Given the description of an element on the screen output the (x, y) to click on. 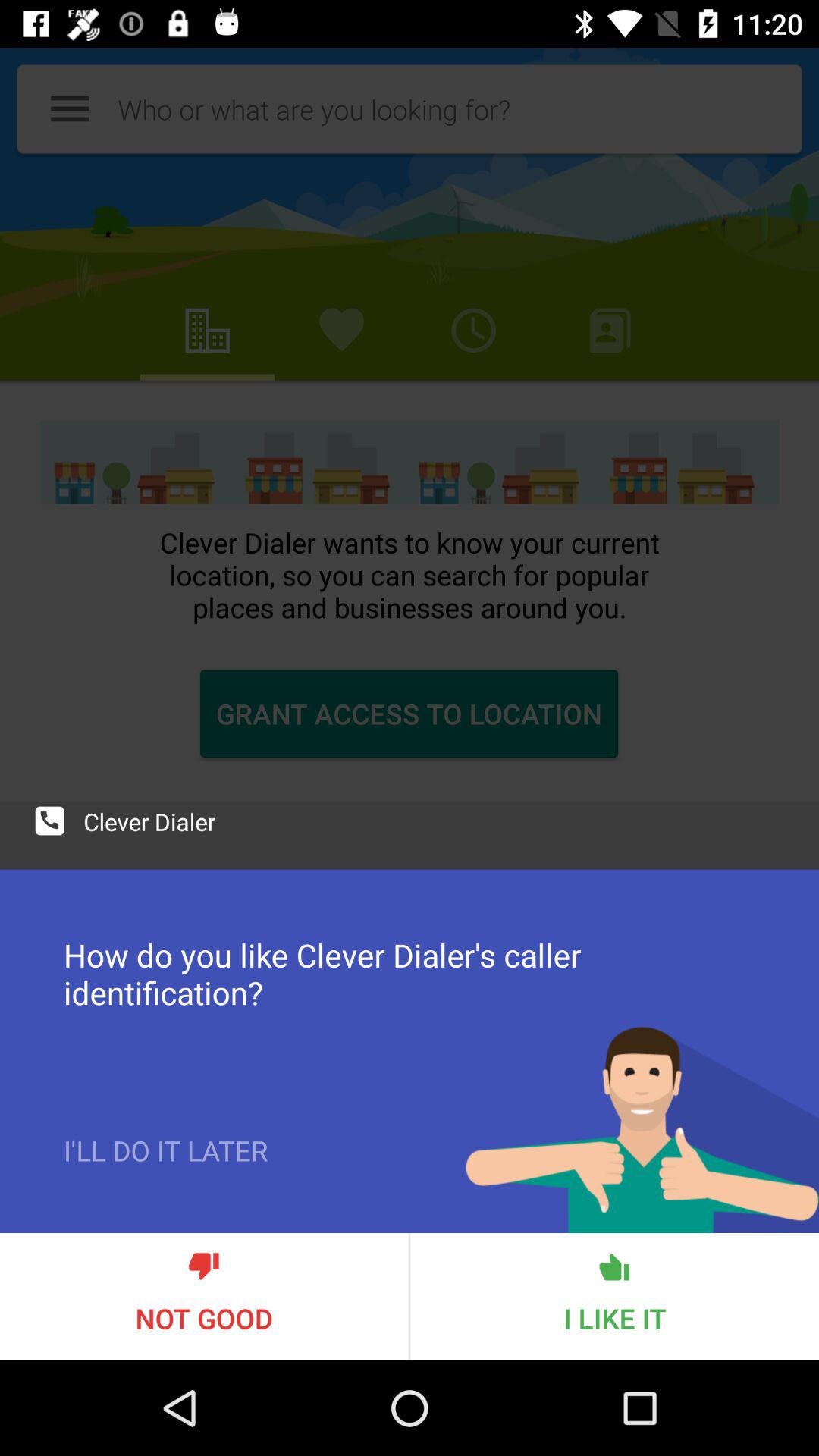
choose not good (204, 1296)
